Given the description of an element on the screen output the (x, y) to click on. 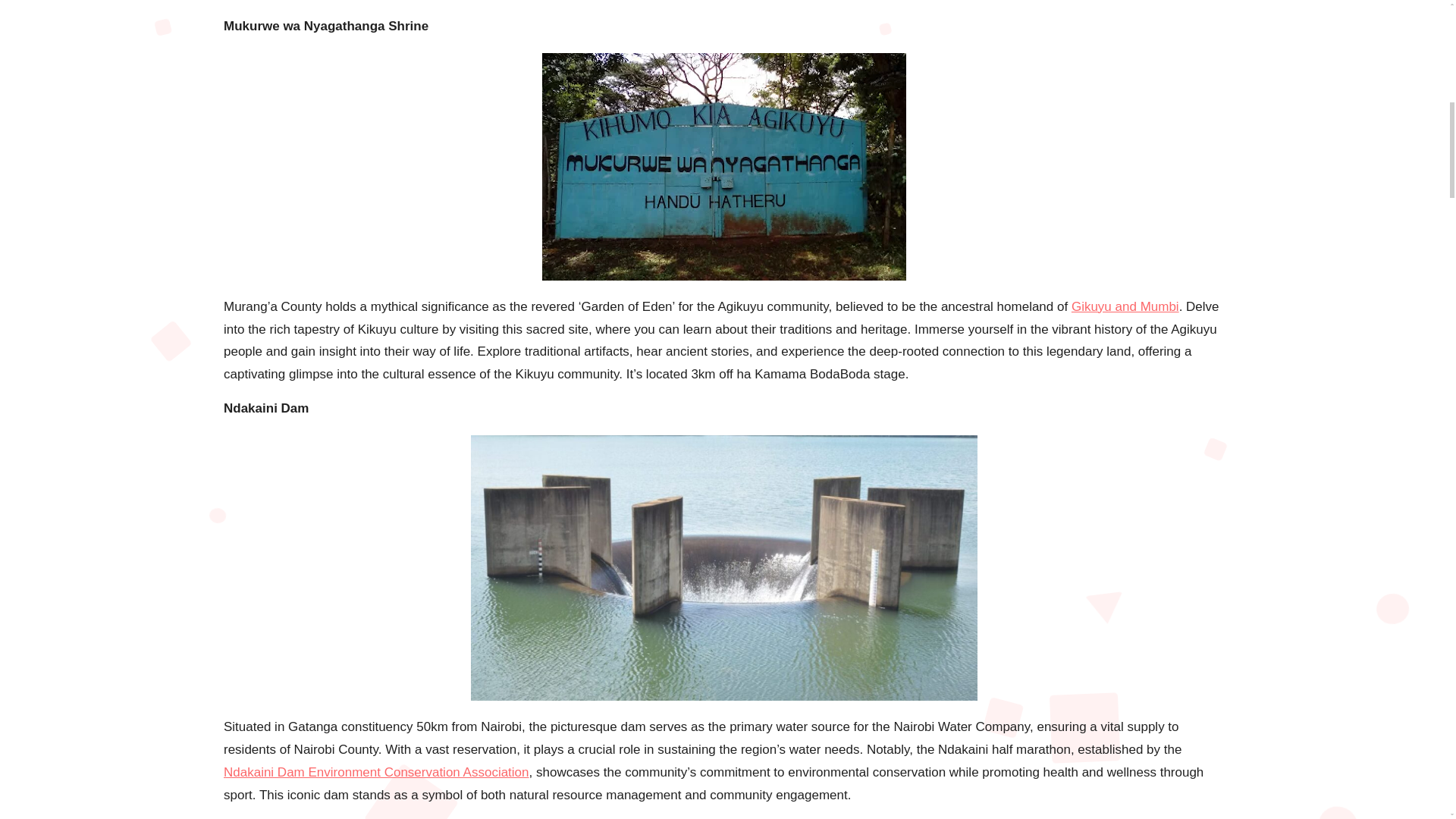
Ndakaini Dam Environment Conservation Association (376, 771)
Gikuyu and Mumbi (1125, 306)
